Given the description of an element on the screen output the (x, y) to click on. 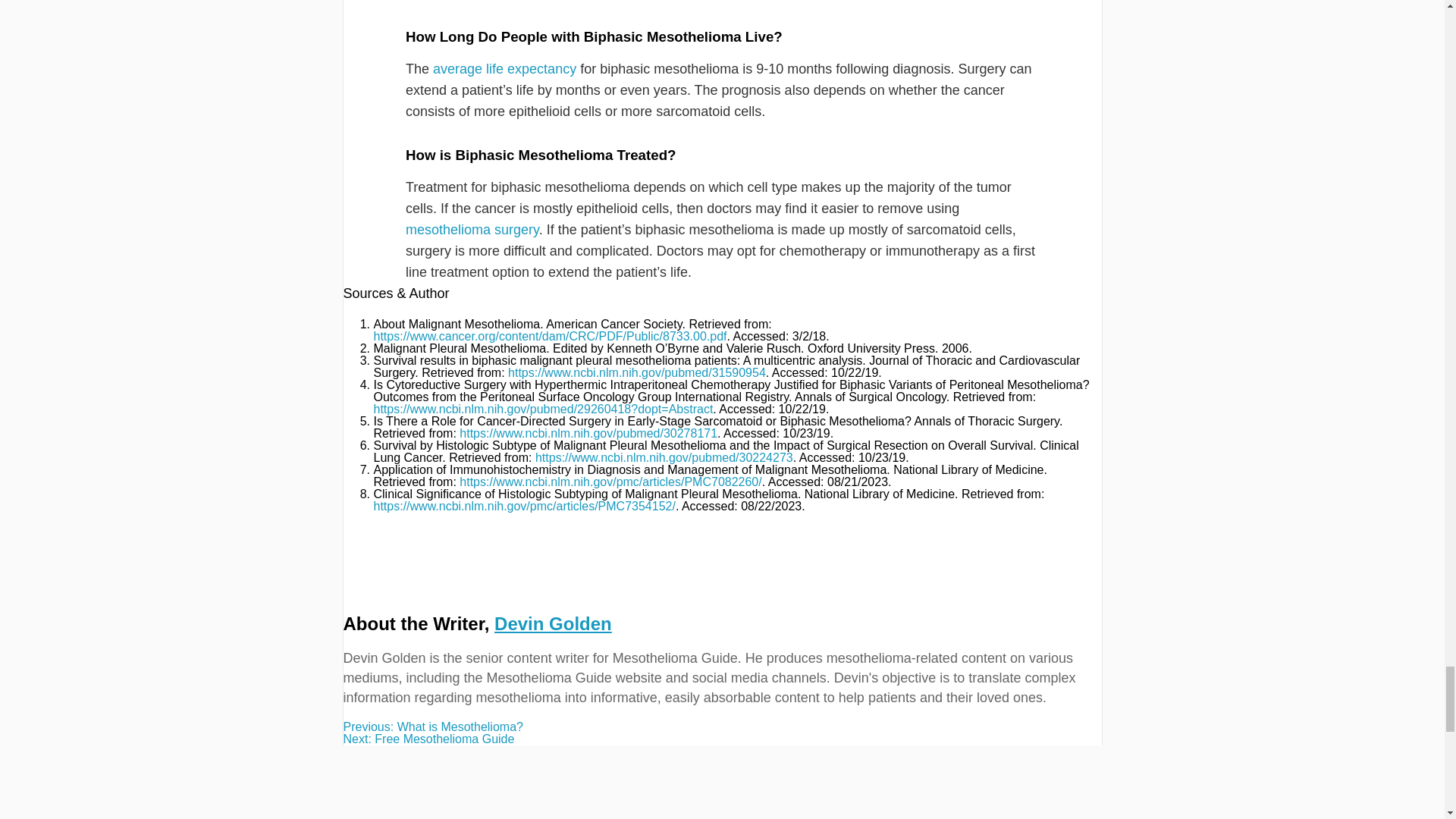
What is Mesothelioma? (721, 727)
Free Mesothelioma Guide (721, 739)
